Given the description of an element on the screen output the (x, y) to click on. 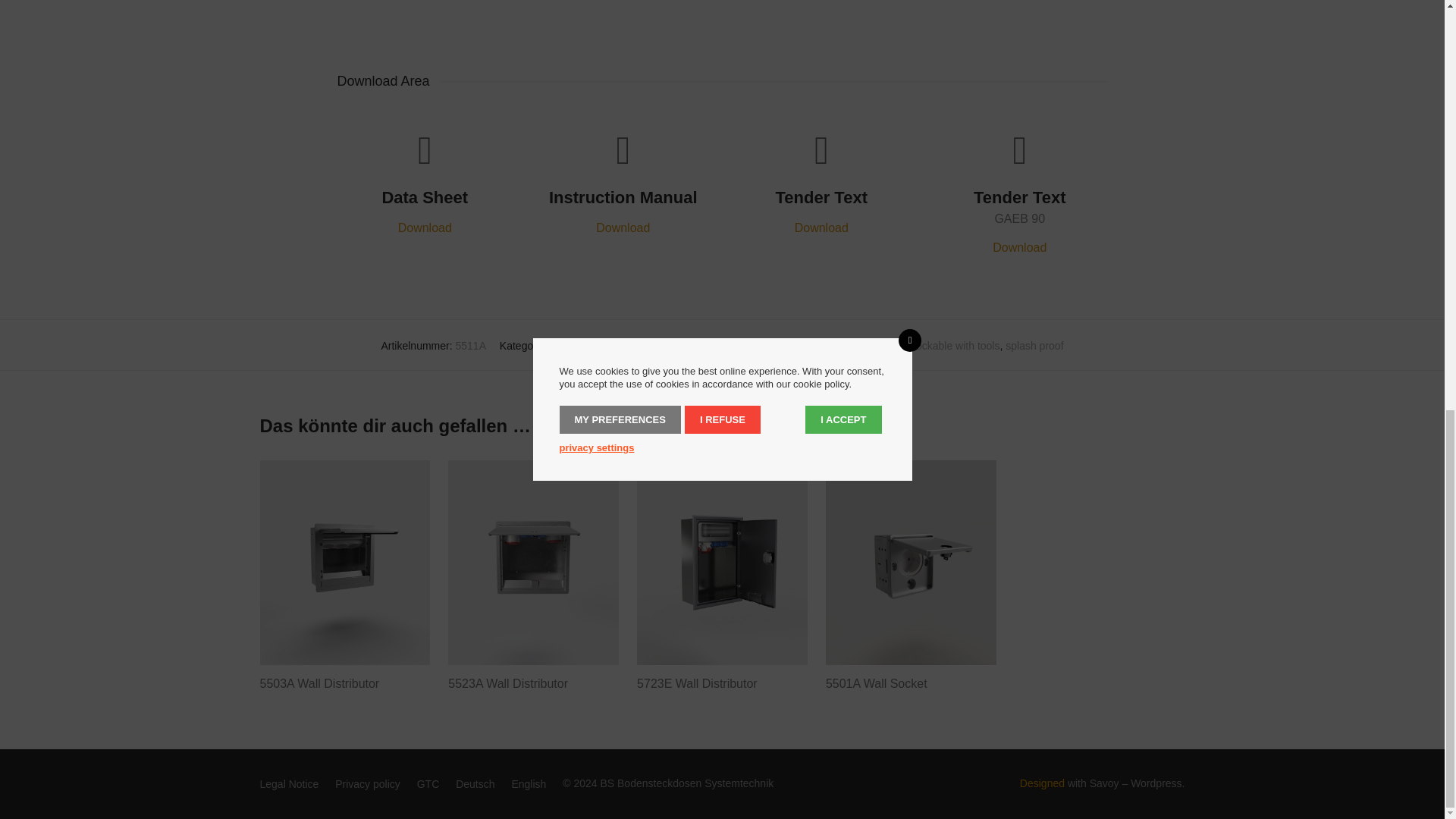
Download (821, 227)
splash proof (1034, 345)
5523A Wall Distributor (507, 683)
Download (1019, 246)
ball impact resistant (809, 345)
hinged lid (884, 345)
5503A Wall Distributor (318, 683)
lockable with tools (957, 345)
Download (622, 227)
Download (424, 227)
